Given the description of an element on the screen output the (x, y) to click on. 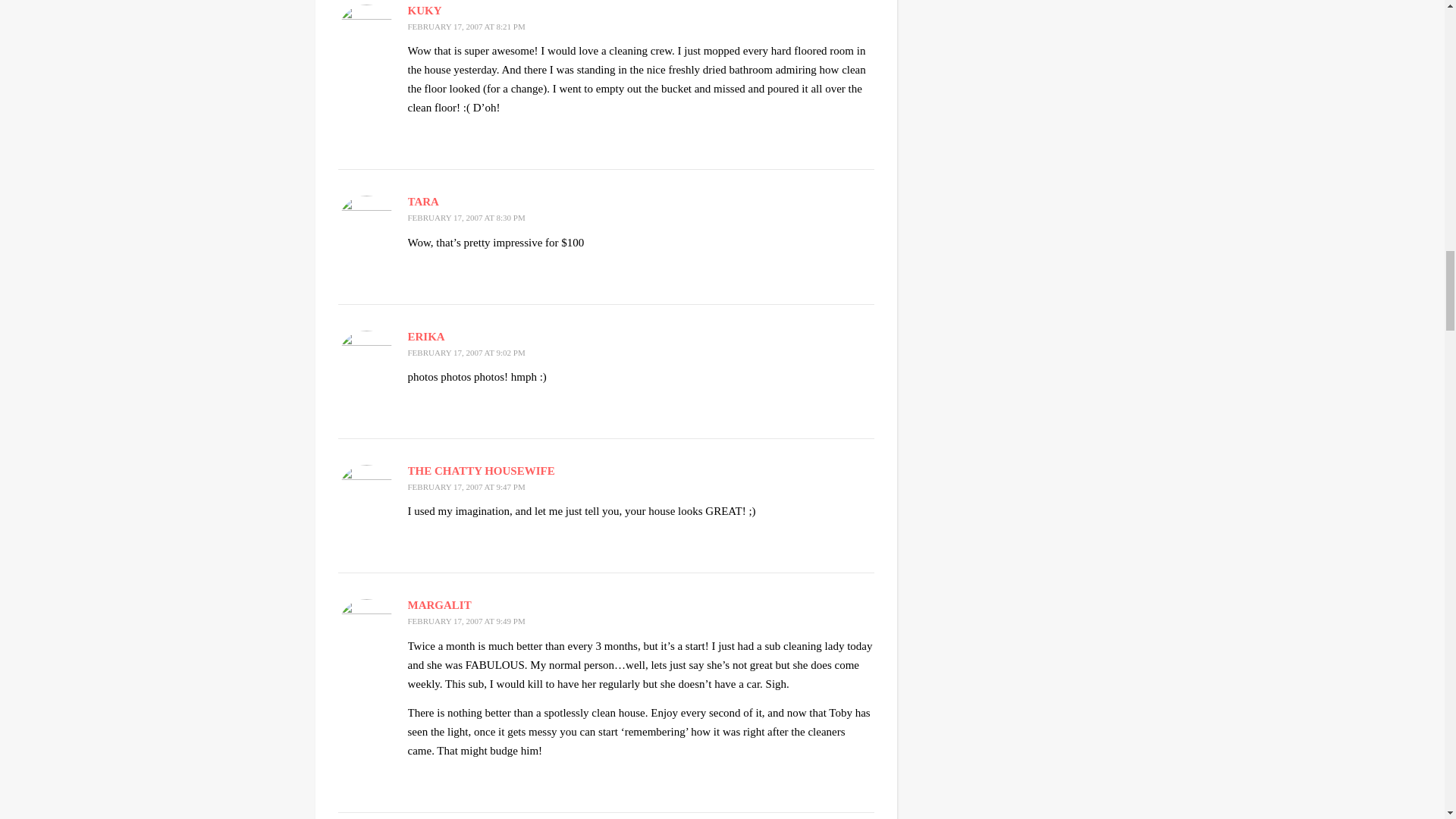
FEBRUARY 17, 2007 AT 9:02 PM (466, 352)
ERIKA (426, 336)
THE CHATTY HOUSEWIFE (480, 470)
KUKY (424, 10)
FEBRUARY 17, 2007 AT 8:21 PM (466, 26)
TARA (423, 201)
FEBRUARY 17, 2007 AT 8:30 PM (466, 216)
